Given the description of an element on the screen output the (x, y) to click on. 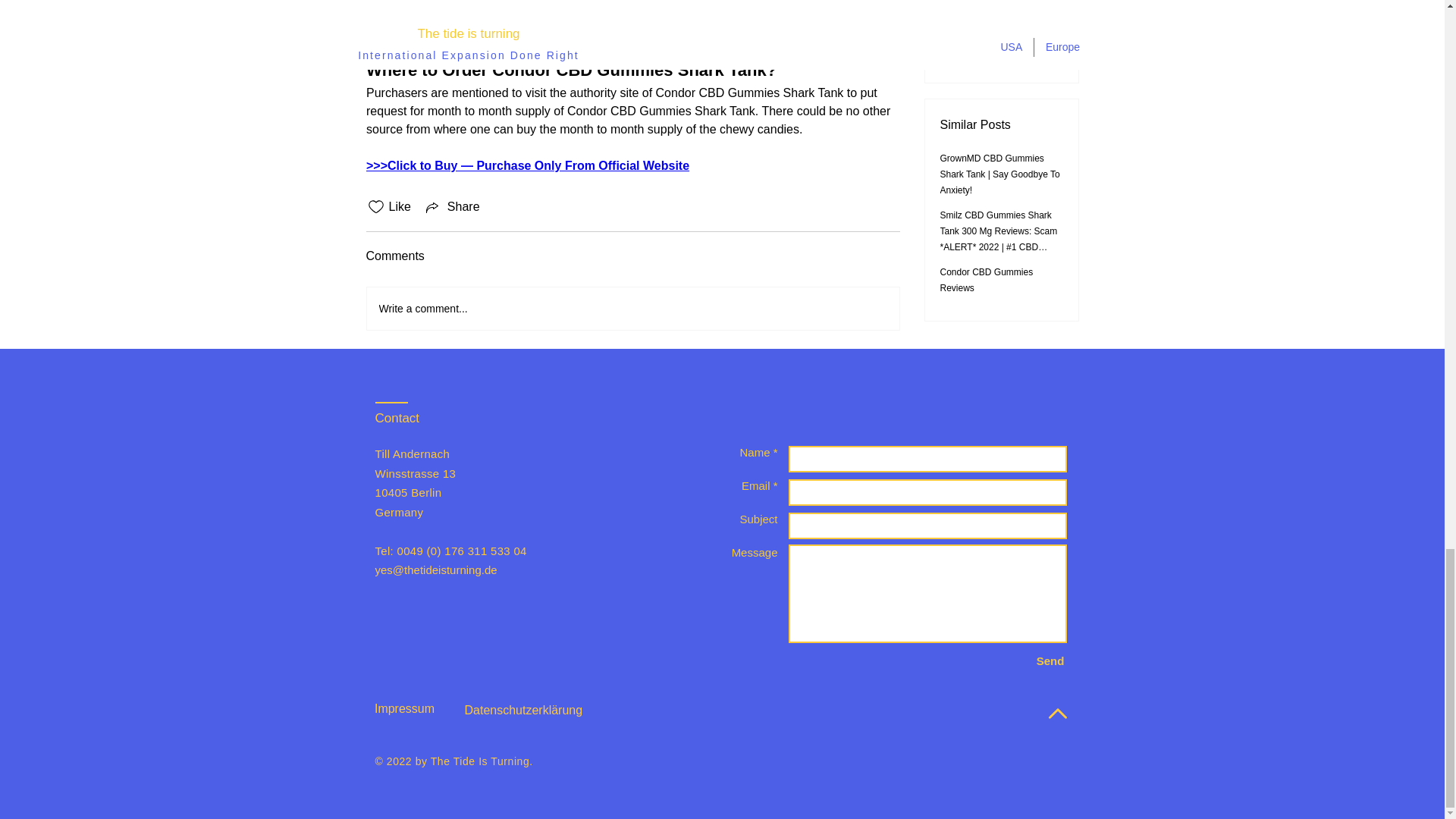
Write a comment... (632, 308)
Send (1050, 660)
Share (451, 207)
Impressum (404, 708)
